Given the description of an element on the screen output the (x, y) to click on. 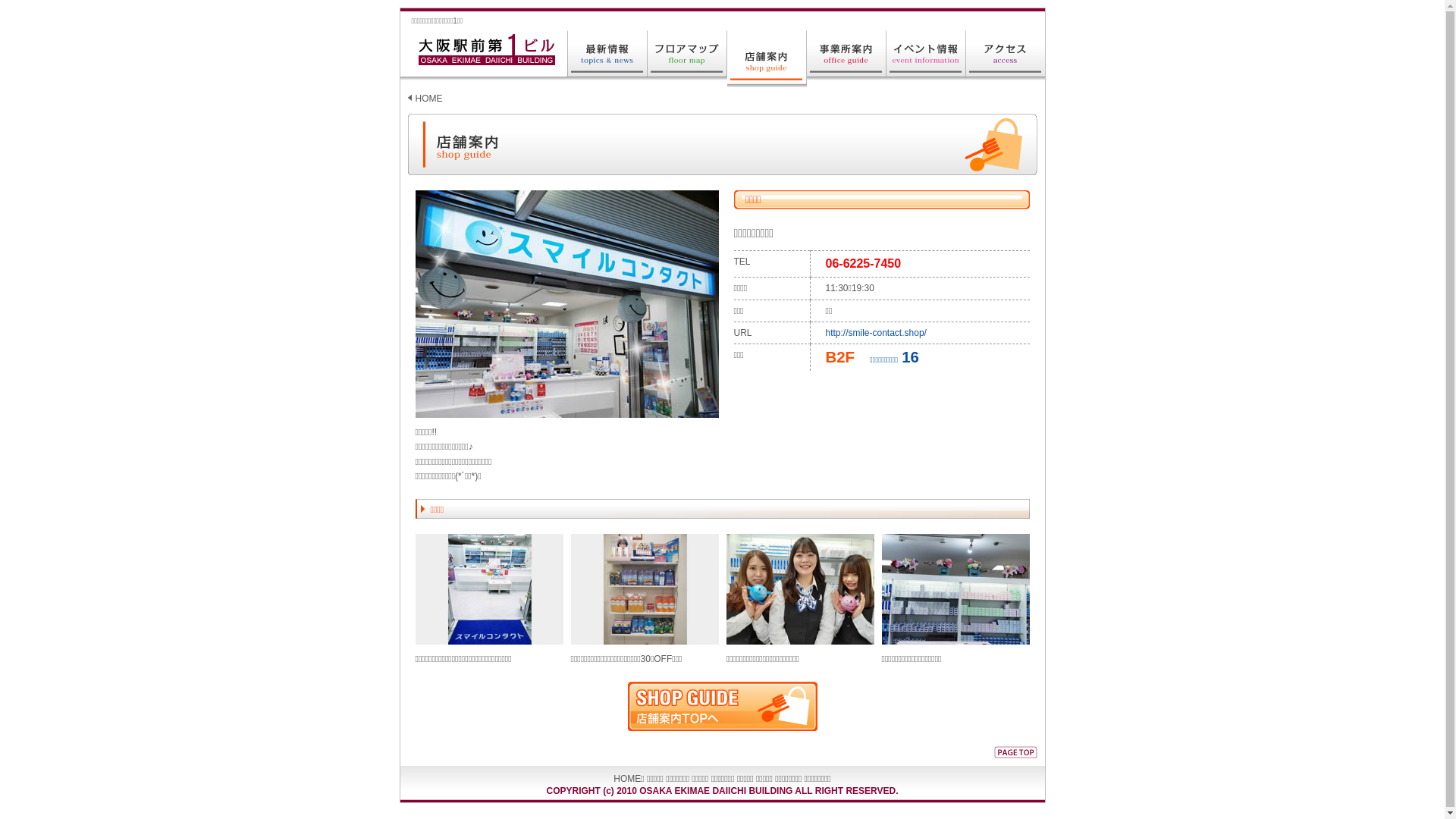
HOME Element type: text (428, 98)
http://smile-contact.shop/ Element type: text (875, 332)
HOME Element type: text (626, 778)
